Given the description of an element on the screen output the (x, y) to click on. 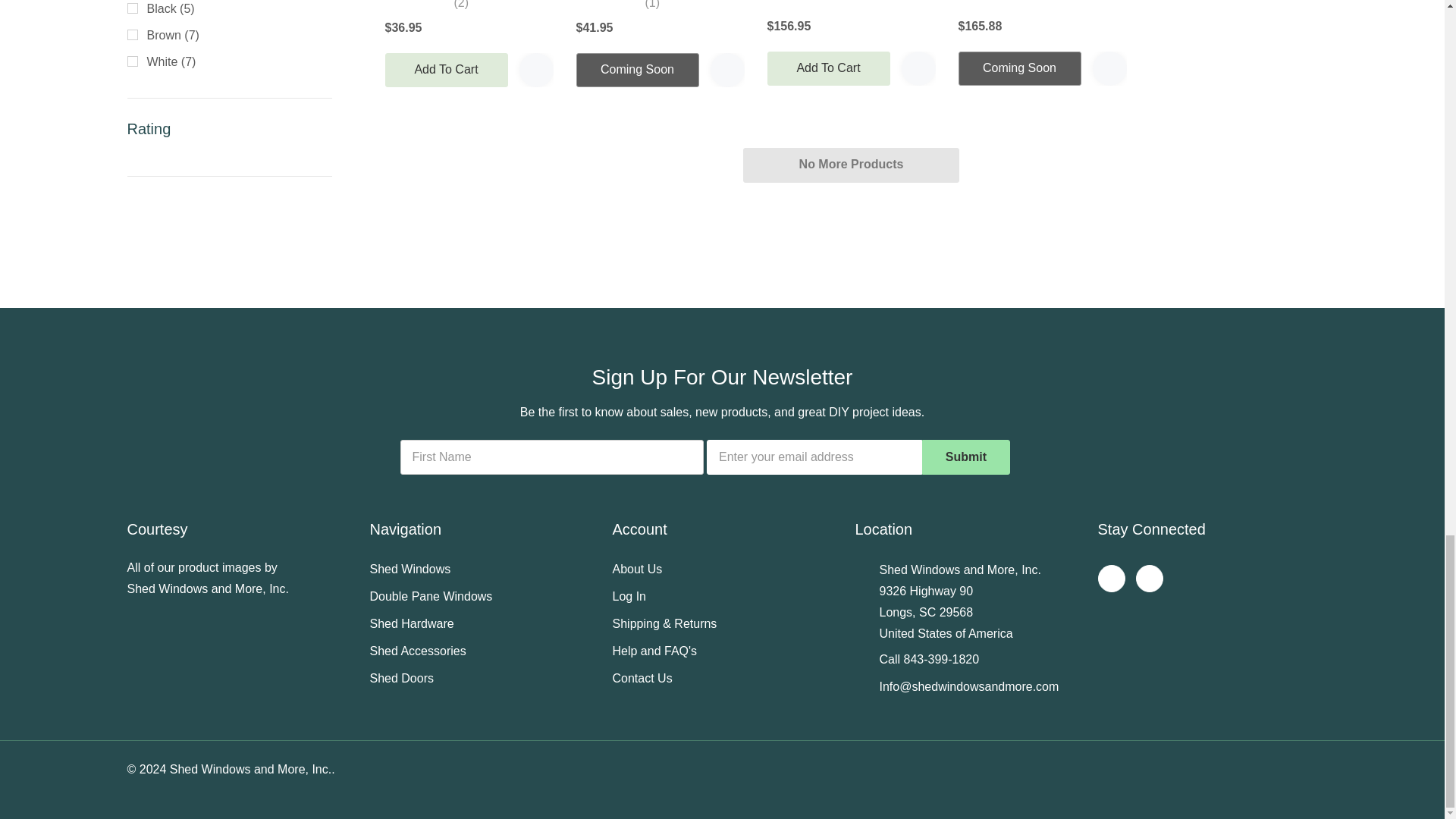
Submit (965, 457)
